Given the description of an element on the screen output the (x, y) to click on. 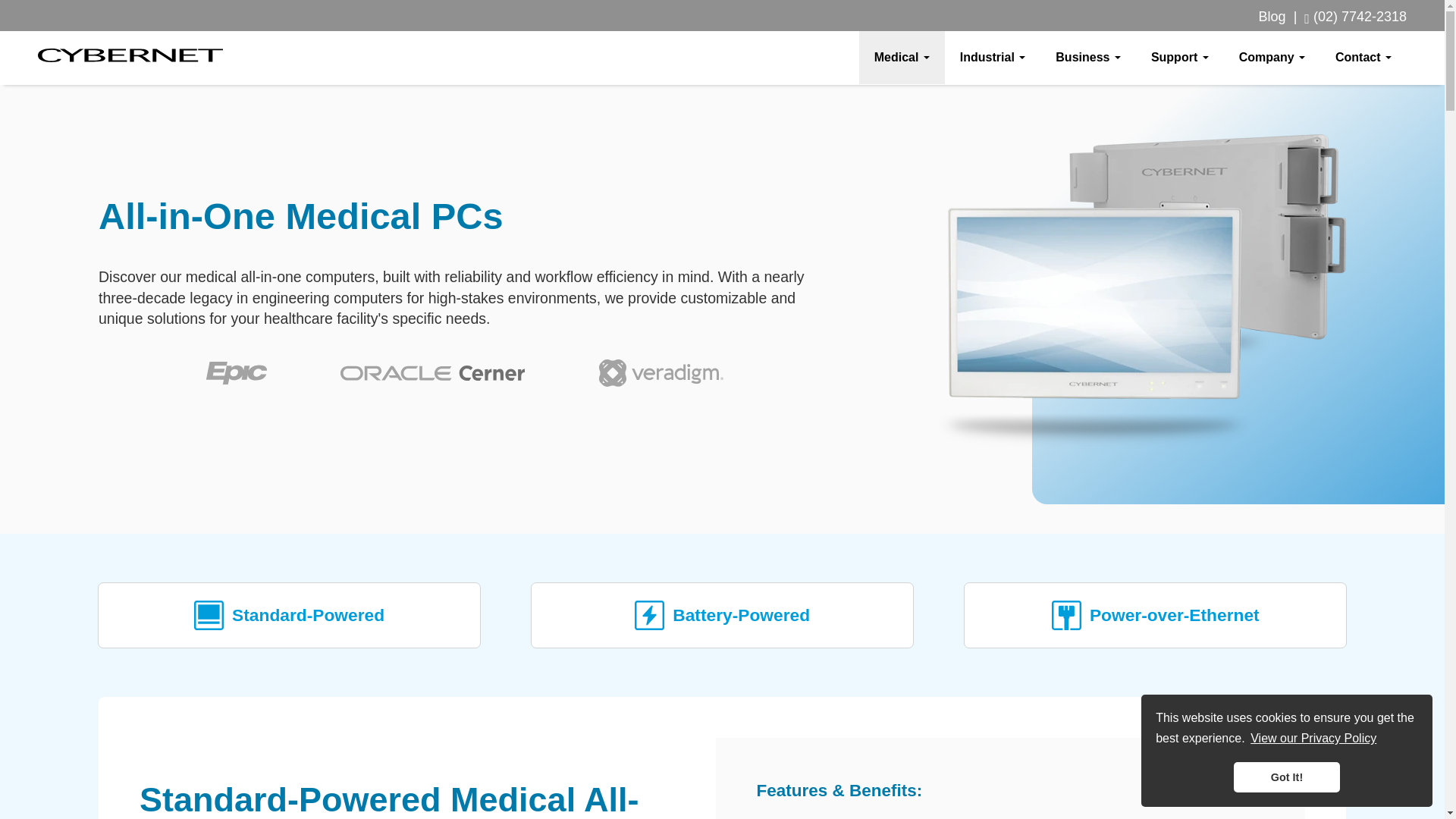
View our Privacy Policy (1312, 738)
Support (1179, 56)
Standard-Powered (289, 615)
Cybernet Manufacturing (129, 55)
Power-over-Ethernet (1154, 615)
Battery-Powered (721, 615)
Got It! (1286, 777)
Blog (1272, 16)
